Given the description of an element on the screen output the (x, y) to click on. 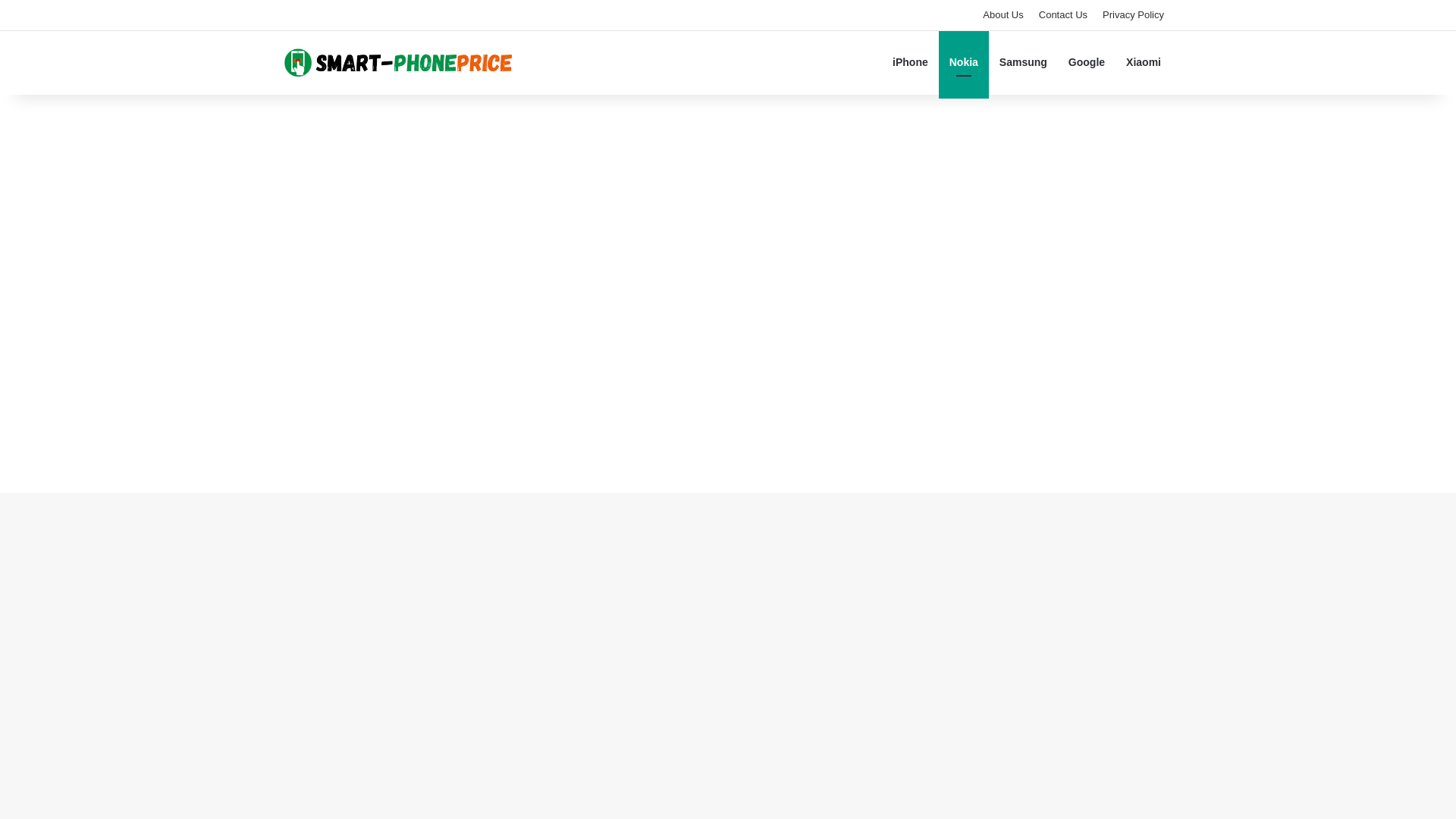
Samsung (1023, 62)
Smart Phone Price (397, 62)
Privacy Policy (1133, 15)
Google (1086, 62)
About Us (1002, 15)
Contact Us (1062, 15)
